Given the description of an element on the screen output the (x, y) to click on. 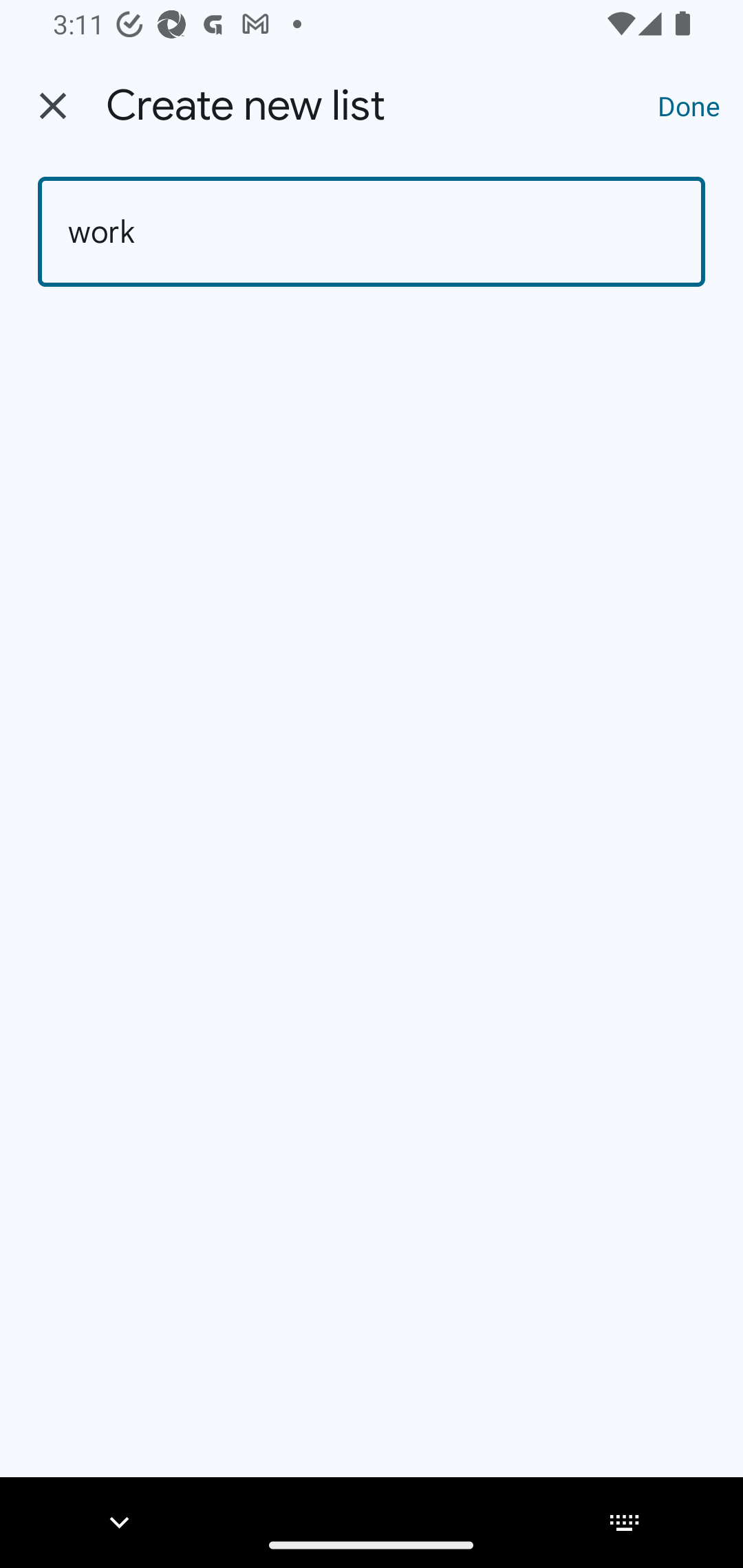
Back (53, 105)
Done (689, 105)
work (371, 231)
